Given the description of an element on the screen output the (x, y) to click on. 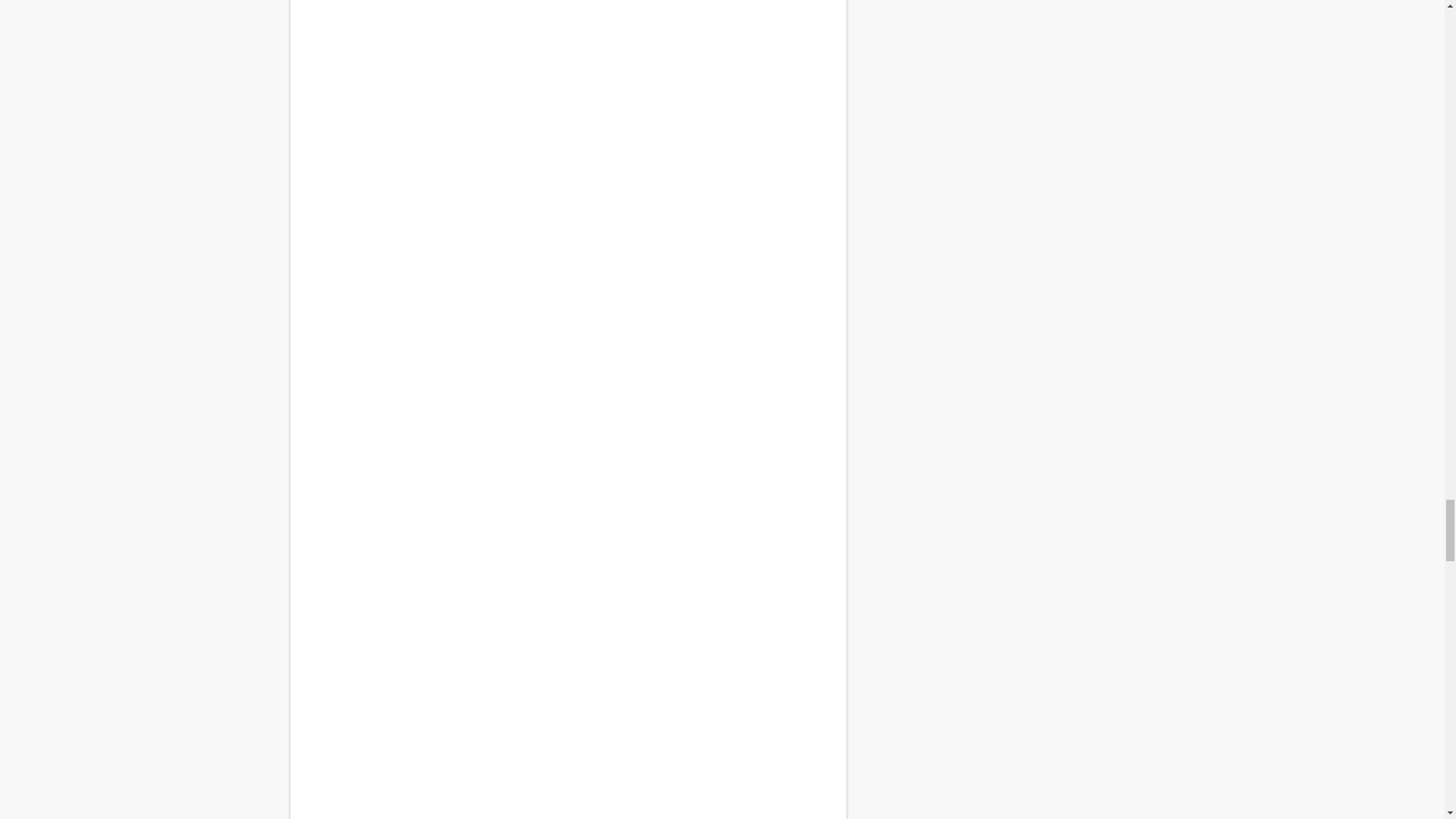
Most Searched Words (567, 305)
